Given the description of an element on the screen output the (x, y) to click on. 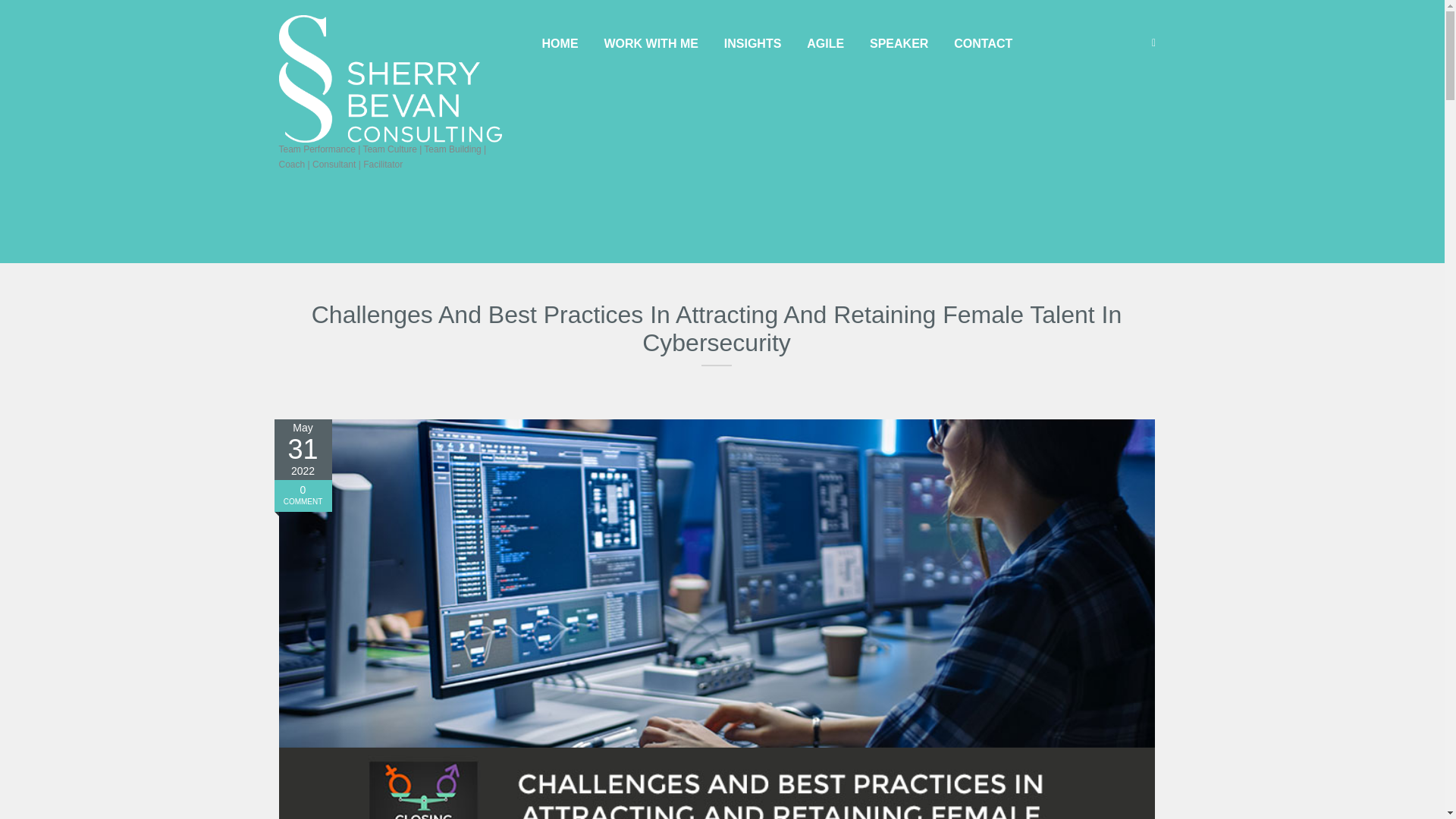
SPEAKER (899, 43)
HOME (560, 43)
INSIGHTS (753, 43)
WORK WITH ME (650, 43)
CONTACT (982, 43)
AGILE (825, 43)
